Given the description of an element on the screen output the (x, y) to click on. 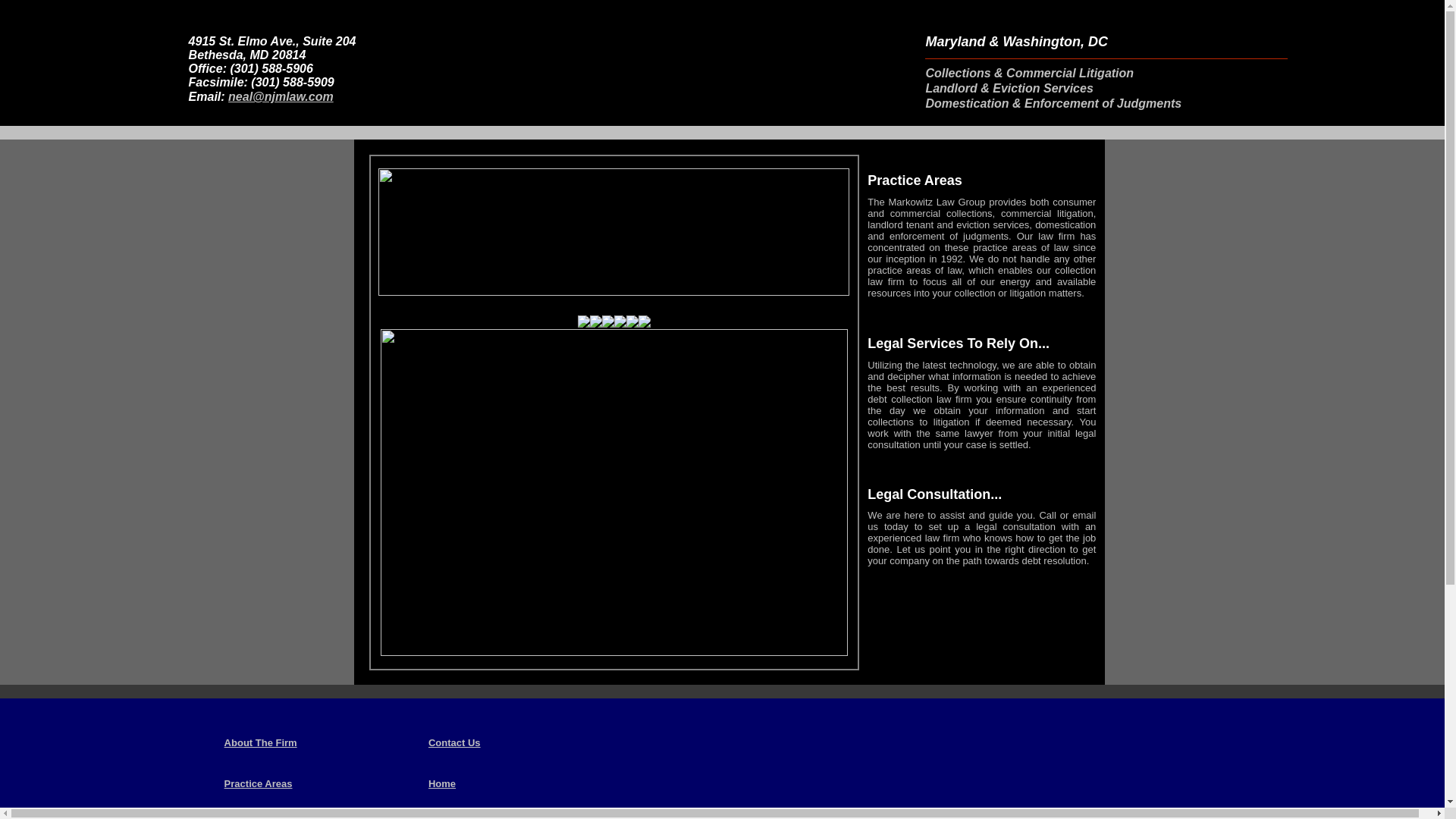
Contact Us (454, 741)
Practice Areas (258, 782)
About The Firm (260, 741)
Home (441, 782)
Inquiry Form (253, 817)
